Given the description of an element on the screen output the (x, y) to click on. 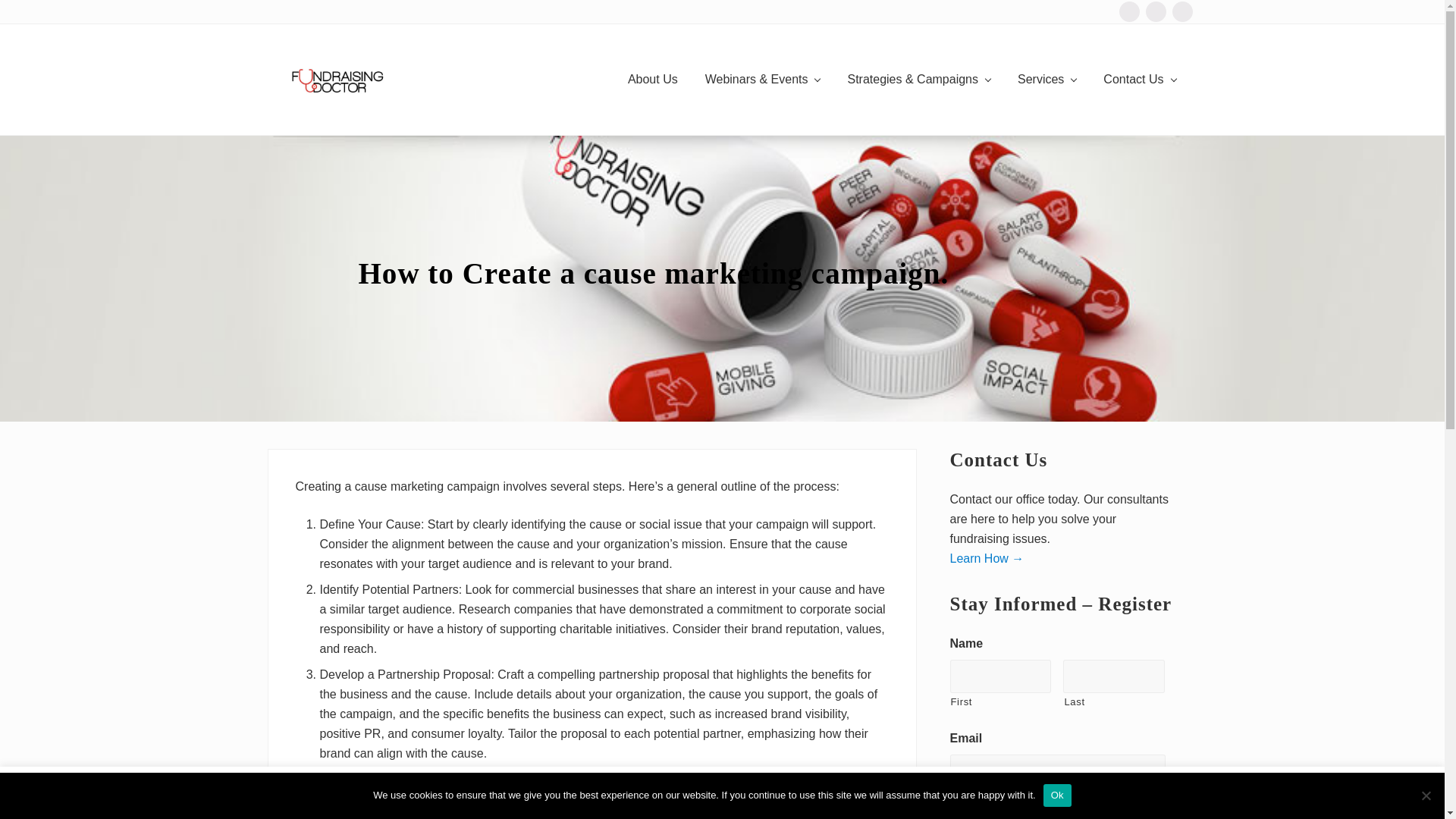
Submit (983, 815)
LinkedIn (1155, 11)
About Us (652, 79)
Services (1046, 79)
No (1425, 795)
Facebook (1129, 11)
Twitter (1182, 11)
Facebook (1129, 11)
Contact Us (1139, 79)
LinkedIn (1155, 11)
Twitter (1182, 11)
